Given the description of an element on the screen output the (x, y) to click on. 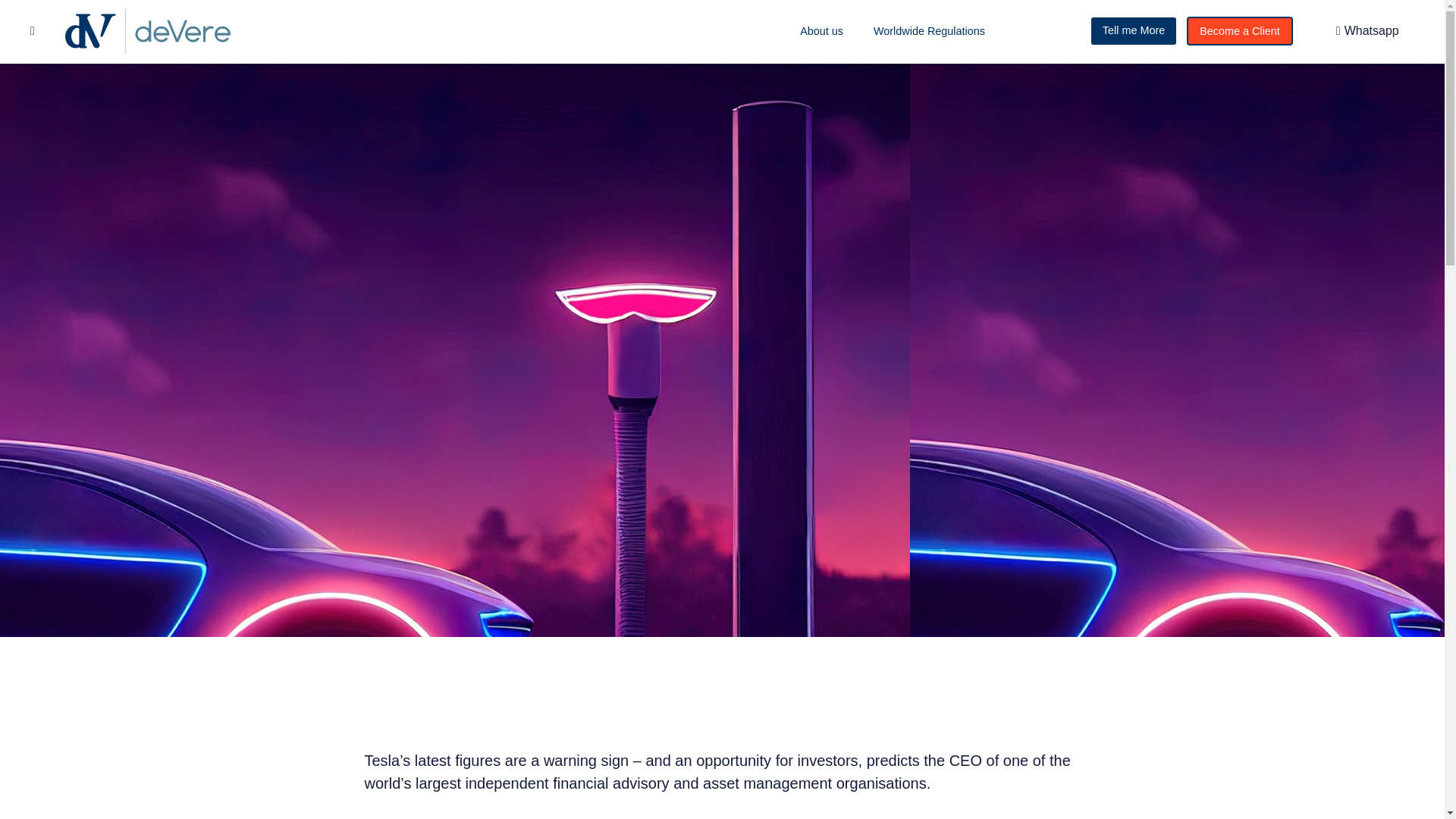
Tell me More (1133, 30)
Whatsapp (1367, 31)
About us (821, 30)
Become a Client (1239, 30)
Worldwide Regulations (929, 30)
